Given the description of an element on the screen output the (x, y) to click on. 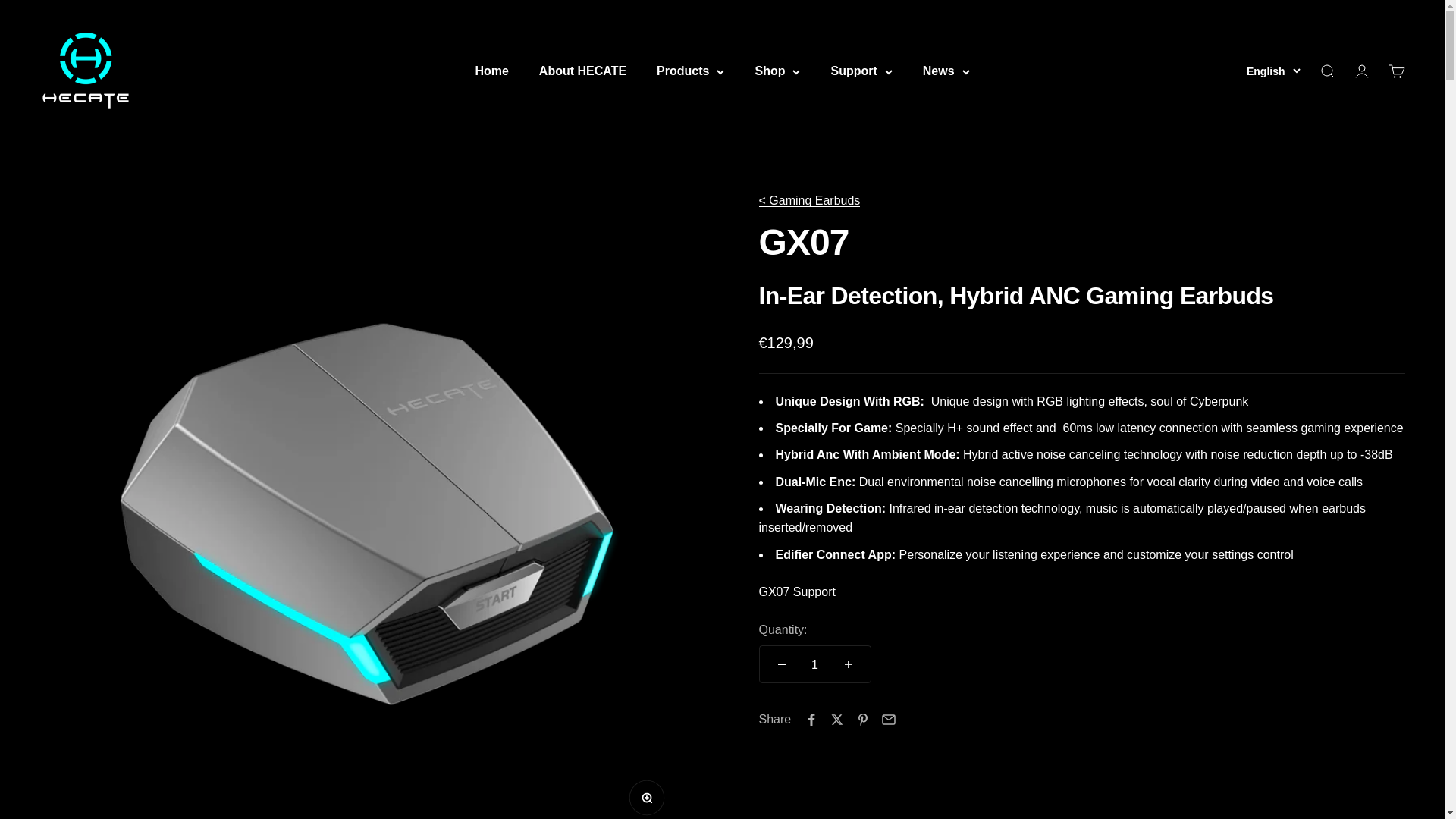
Products (689, 71)
Open account page (1396, 71)
Home (1361, 71)
About HECATE (491, 70)
Gaming Earbuds (582, 70)
English (809, 200)
Open search (1273, 71)
GX07 Product Support (1326, 71)
HECATE Gaming (796, 591)
